Given the description of an element on the screen output the (x, y) to click on. 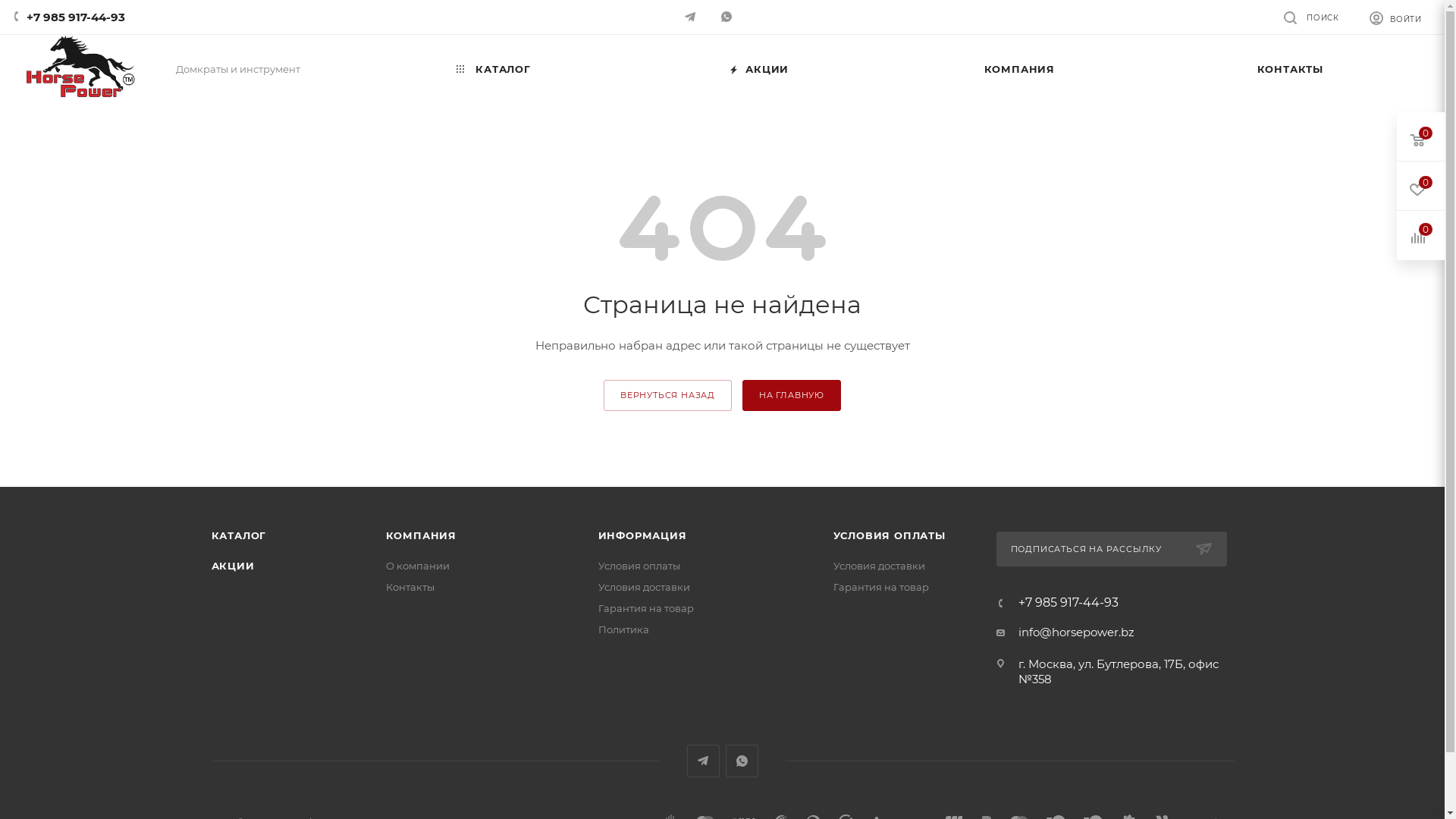
+7 985 917-44-93 Element type: text (75, 16)
WhatsApp Element type: text (740, 760)
Telegram Element type: text (703, 760)
info@horsepower.bz Element type: text (1075, 632)
+7 985 917-44-93 Element type: text (1067, 602)
